Given the description of an element on the screen output the (x, y) to click on. 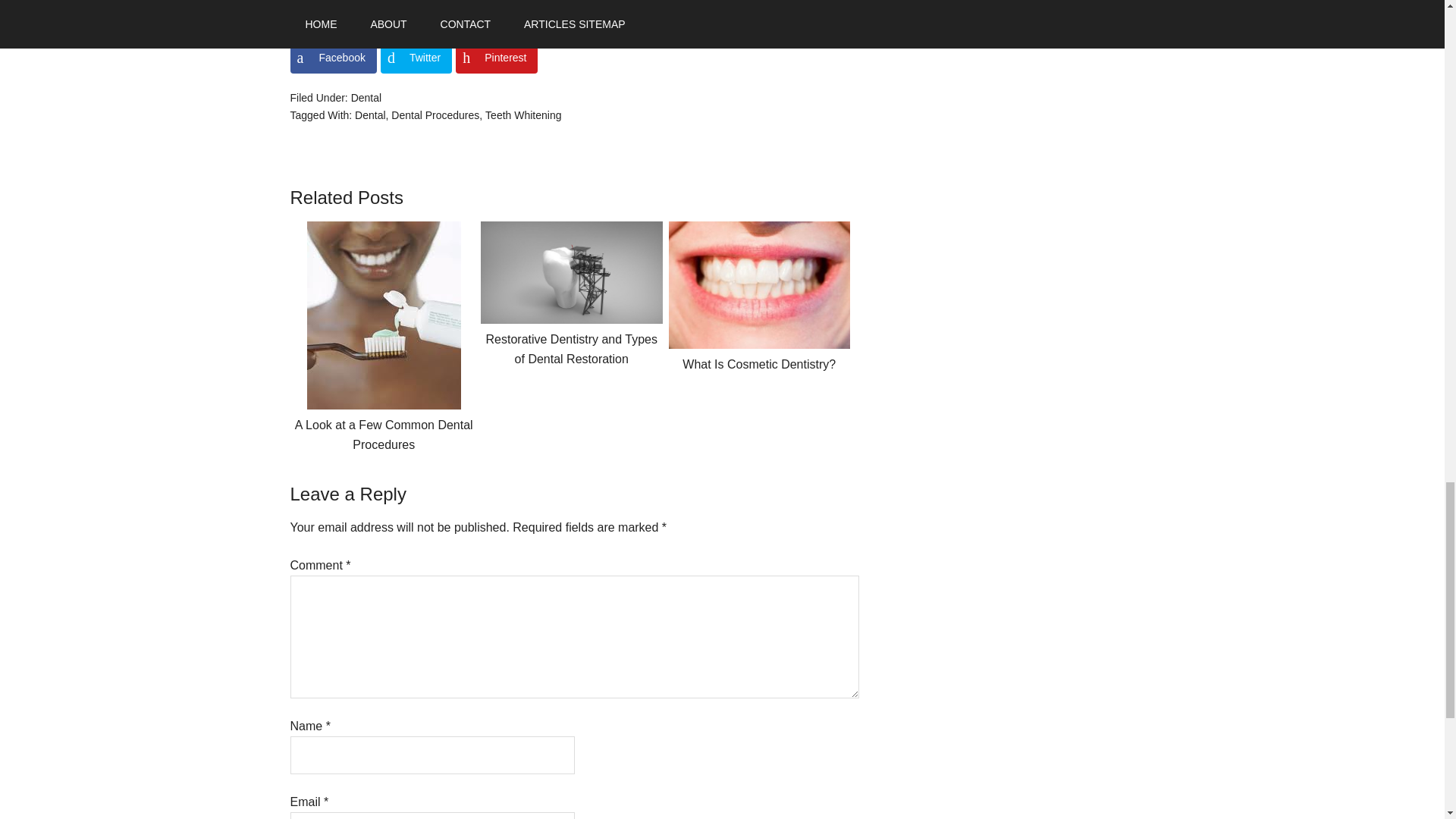
Facebook (332, 57)
Pinterest (496, 57)
Dental (370, 114)
Share on Facebook (332, 57)
Dental (365, 97)
Dental Procedures (435, 114)
Share on Twitter (415, 57)
Share on Pinterest (496, 57)
Teeth Whitening (522, 114)
Twitter (415, 57)
